Given the description of an element on the screen output the (x, y) to click on. 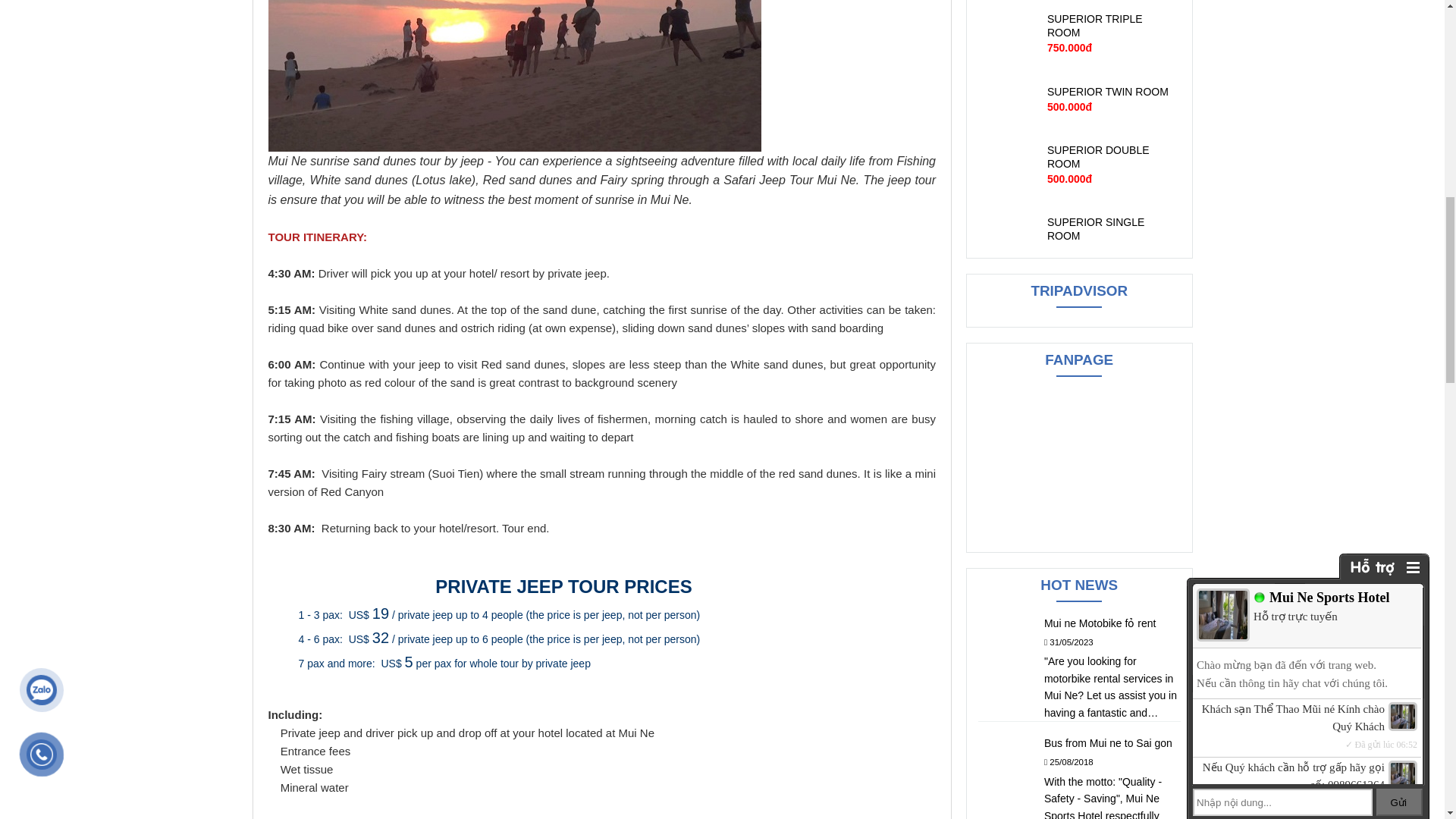
Muine sunrise Tour (514, 75)
